Given the description of an element on the screen output the (x, y) to click on. 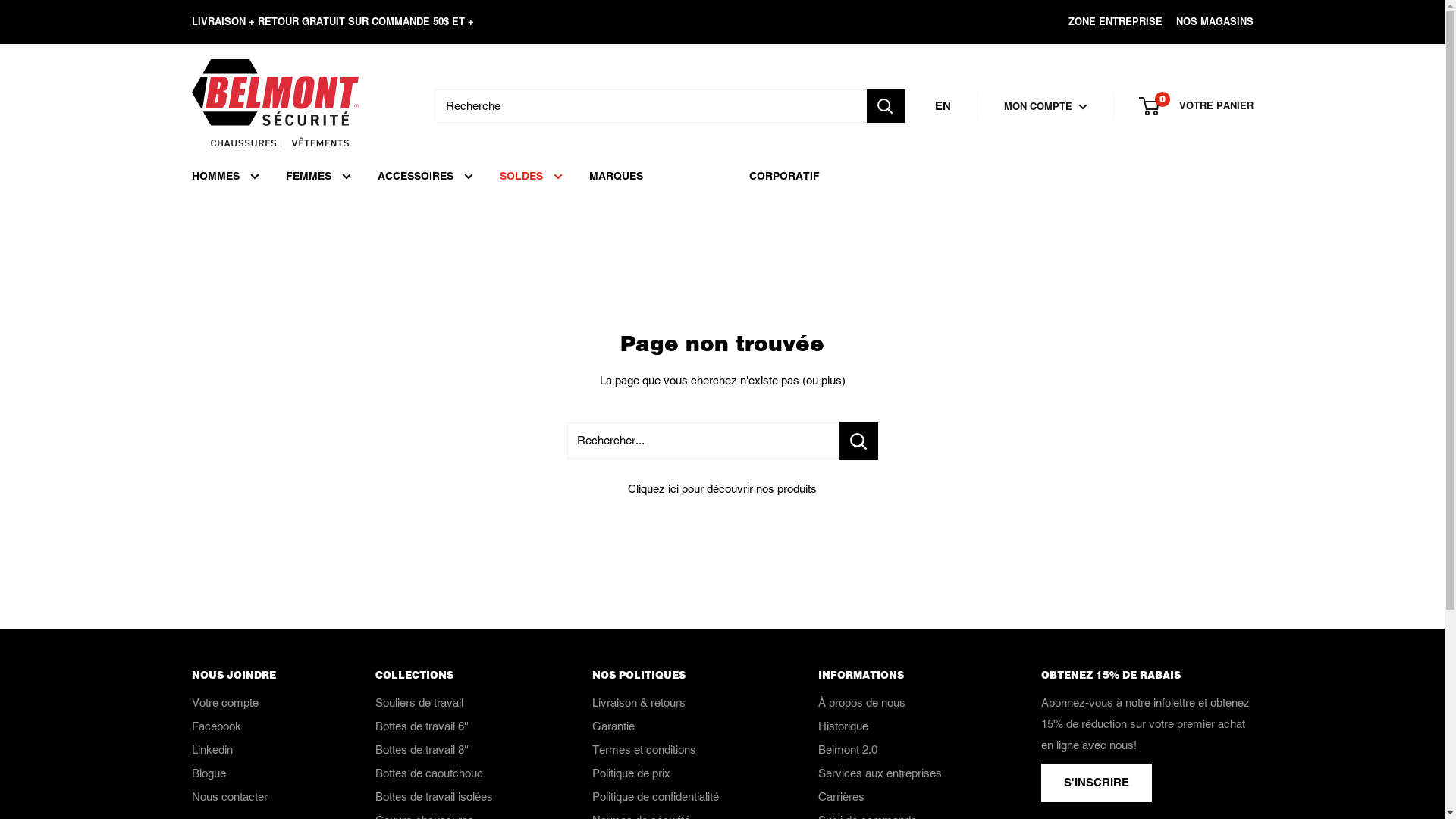
MON COMPTE Element type: text (1045, 106)
MARQUES Element type: text (615, 175)
CORPORATIF Element type: text (784, 175)
NOUS JOINDRE Element type: text (256, 674)
ACCESSOIRES Element type: text (425, 175)
Belmont 2.0 Element type: text (902, 749)
Facebook Element type: text (256, 725)
NOS MAGASINS Element type: text (1206, 21)
Services aux entreprises Element type: text (902, 772)
Termes et conditions Element type: text (677, 749)
Historique Element type: text (902, 725)
ZONE ENTREPRISE Element type: text (1107, 21)
Linkedin Element type: text (256, 749)
0
VOTRE PANIER Element type: text (1196, 106)
FEMMES Element type: text (317, 175)
Livraison & retours Element type: text (677, 702)
COLLECTIONS Element type: text (456, 674)
Bottes de travail 6'' Element type: text (456, 725)
NOS POLITIQUES Element type: text (677, 674)
Bottes de travail 8'' Element type: text (456, 749)
Blogue Element type: text (256, 772)
EN Element type: text (942, 106)
S'INSCRIRE Element type: text (1095, 782)
HOMMES Element type: text (224, 175)
Nous contacter Element type: text (256, 796)
Souliers de travail Element type: text (456, 702)
Bottes de caoutchouc Element type: text (456, 772)
Garantie Element type: text (677, 725)
Votre compte Element type: text (256, 702)
INFORMATIONS Element type: text (902, 674)
Politique de prix Element type: text (677, 772)
SOLDES Element type: text (529, 175)
